Given the description of an element on the screen output the (x, y) to click on. 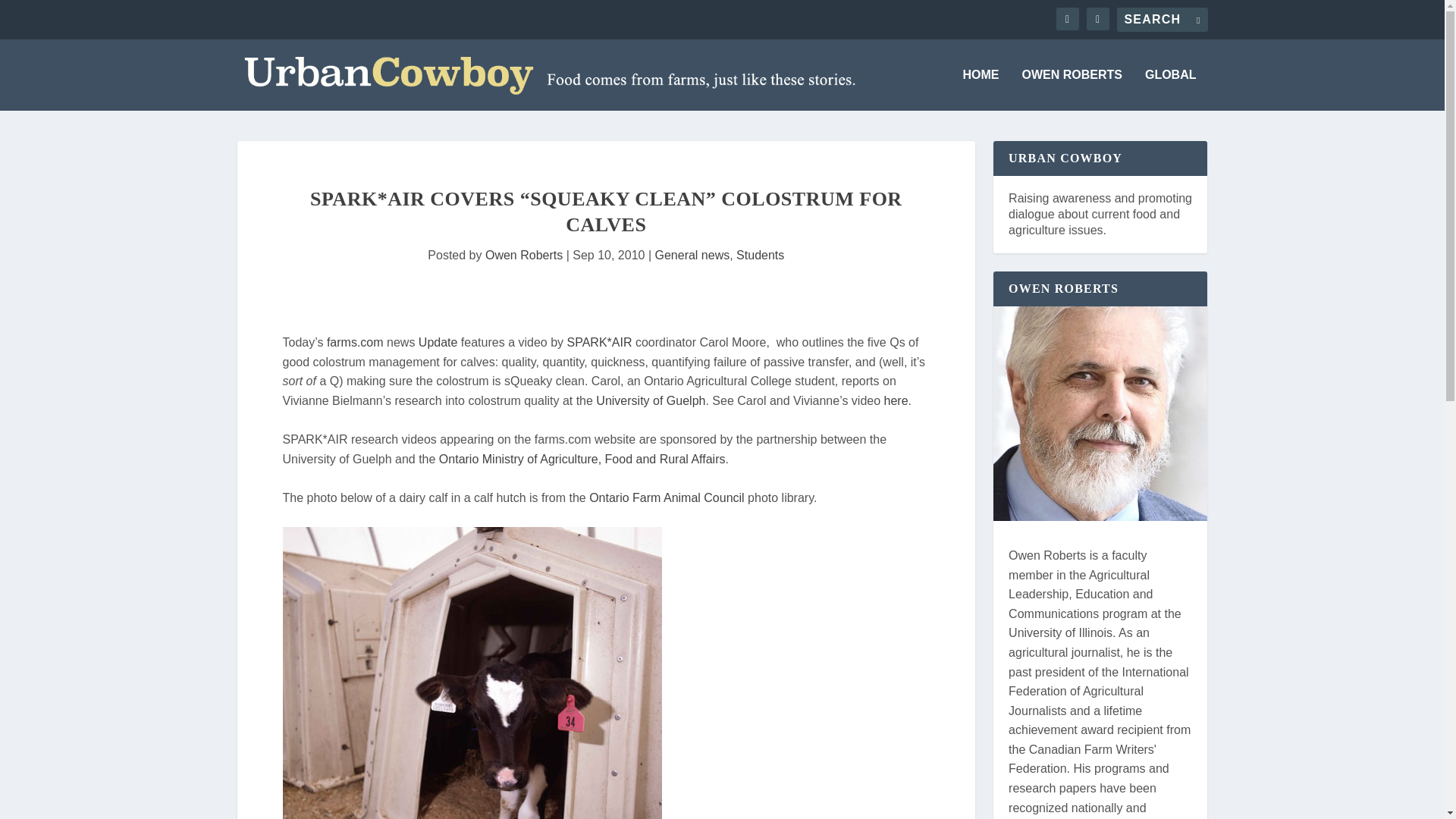
Update (438, 341)
Ontario Ministry of Agriculture, Food and Rural Affairs (582, 459)
OWEN ROBERTS (1072, 89)
dairy calf (471, 673)
farms.com (355, 341)
GLOBAL (1170, 89)
Owen Roberts (523, 254)
Students (760, 254)
Posts by Owen Roberts (523, 254)
University of Guelph (649, 400)
Search for: (1161, 19)
General news (692, 254)
Ontario Farm Animal Council (666, 497)
here (895, 400)
